Given the description of an element on the screen output the (x, y) to click on. 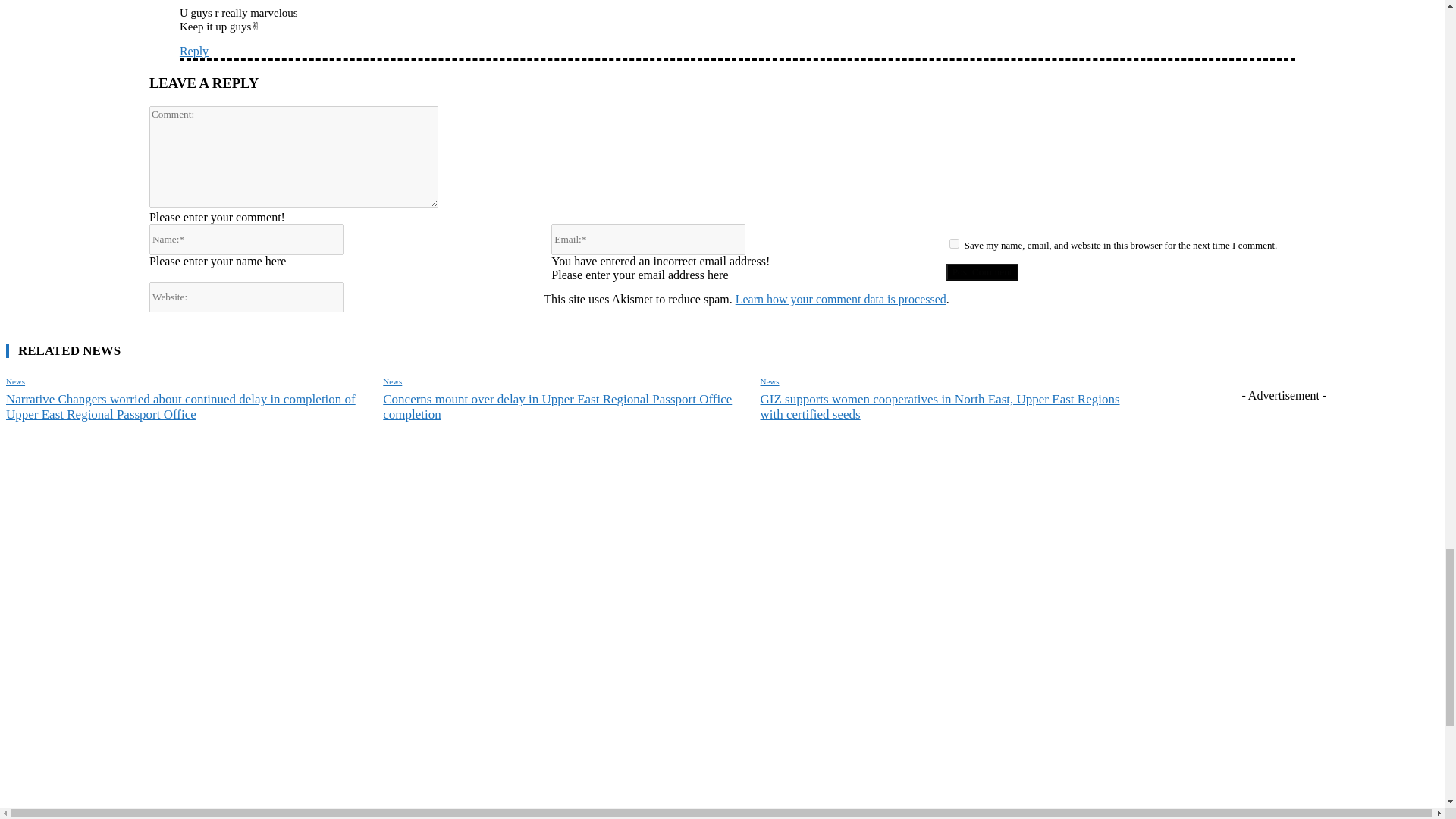
Post Comment (981, 271)
yes (954, 243)
